Given the description of an element on the screen output the (x, y) to click on. 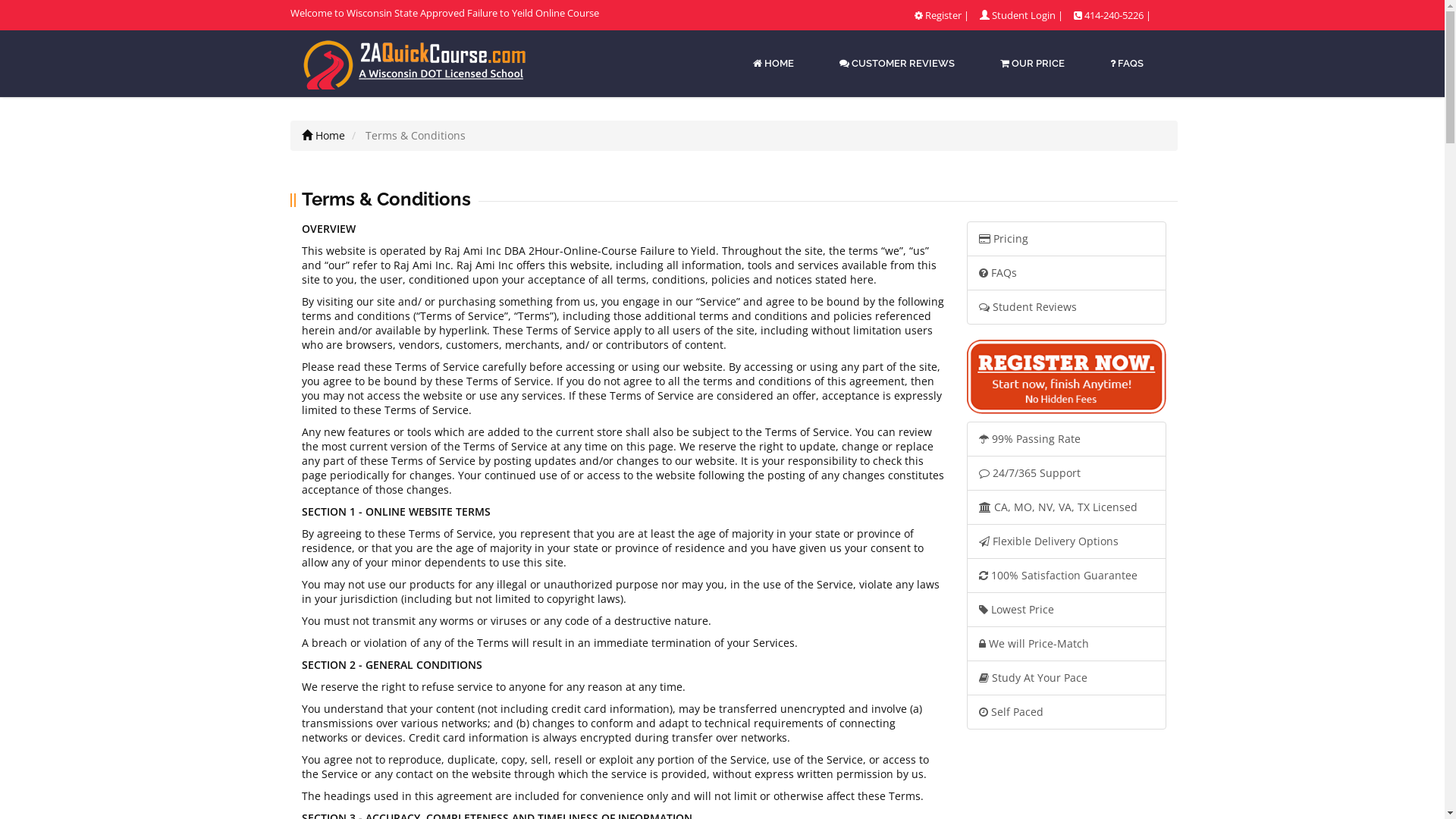
100% Satisfaction Guarantee Element type: text (1066, 575)
99% Passing Rate Element type: text (1066, 438)
Study At Your Pace Element type: text (1066, 677)
Lowest Price Element type: text (1066, 609)
HOME Element type: text (772, 63)
Student Login Element type: text (1023, 14)
Pricing Element type: text (1066, 238)
FAQs Element type: text (1066, 272)
Self Paced Element type: text (1066, 711)
FAQS Element type: text (1126, 63)
We will Price-Match Element type: text (1066, 643)
24/7/365 Support Element type: text (1066, 472)
Flexible Delivery Options Element type: text (1066, 541)
OUR PRICE Element type: text (1031, 63)
Home Element type: text (323, 135)
CA, MO, NV, VA, TX Licensed Element type: text (1066, 506)
Register Element type: text (943, 14)
Student Reviews Element type: text (1066, 306)
CUSTOMER REVIEWS Element type: text (896, 63)
